Given the description of an element on the screen output the (x, y) to click on. 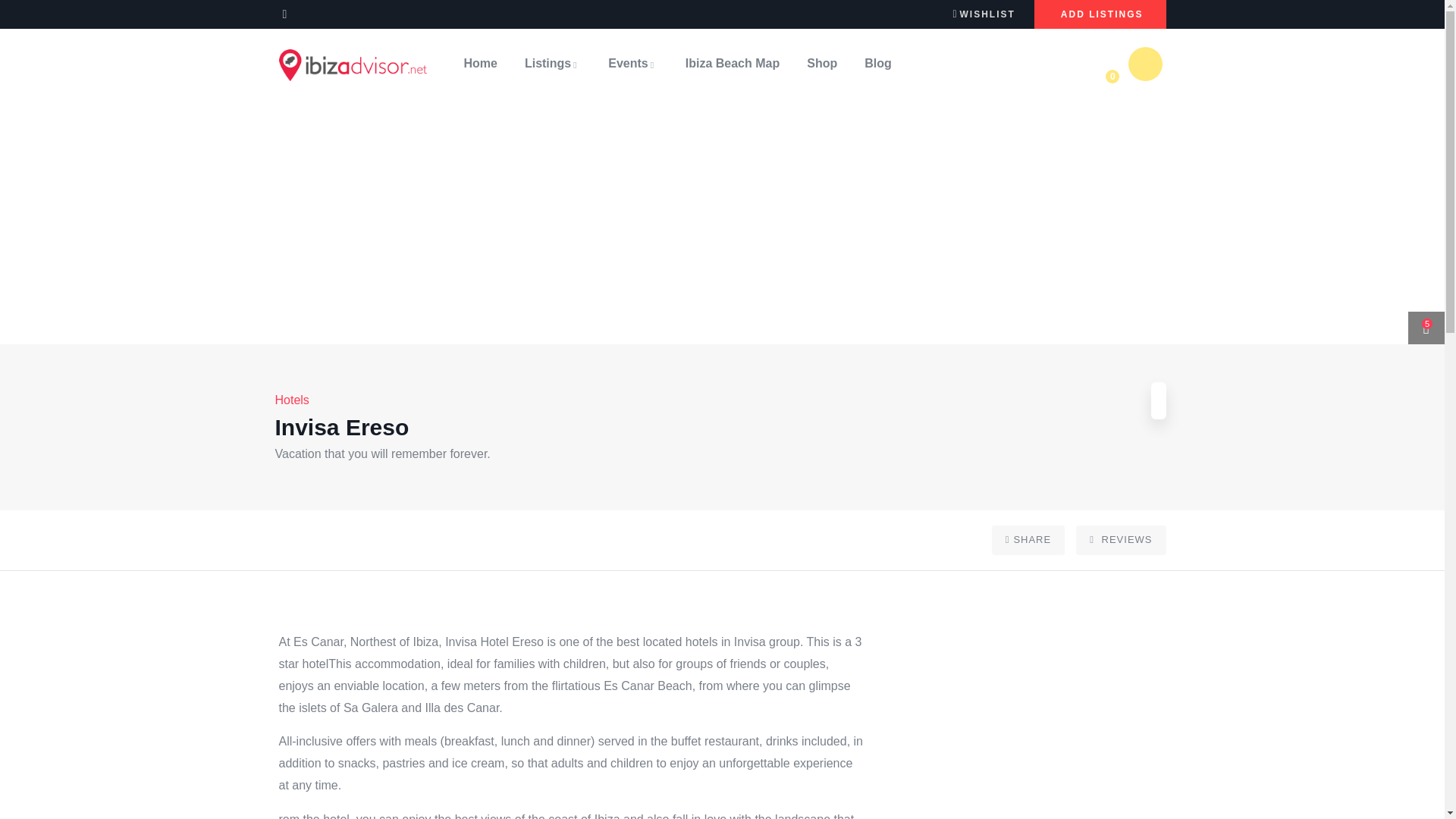
ADD LISTINGS (1099, 14)
WISHLIST (983, 13)
Home (353, 65)
